Given the description of an element on the screen output the (x, y) to click on. 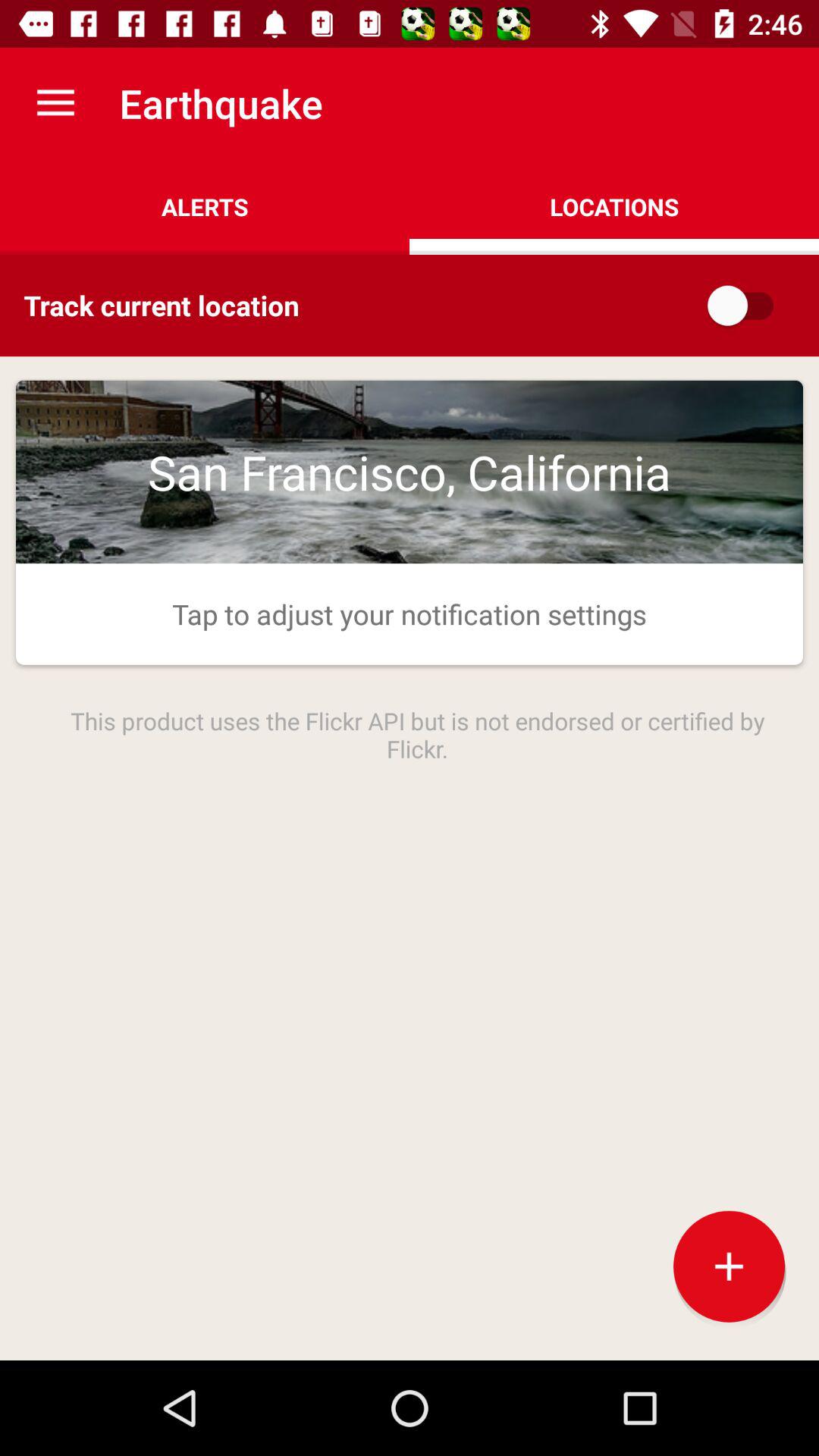
turn on the item above alerts app (55, 103)
